Given the description of an element on the screen output the (x, y) to click on. 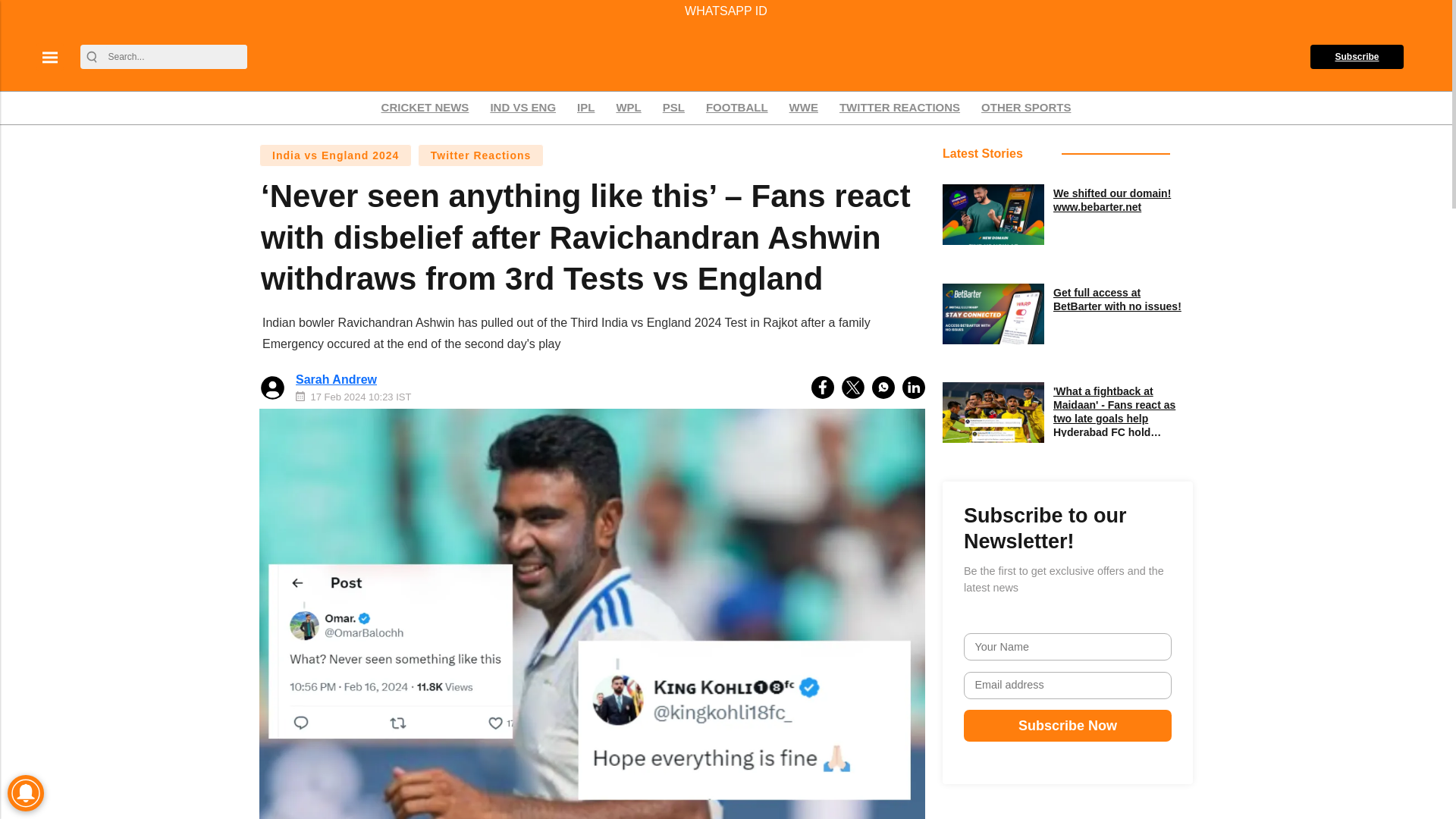
Subscribe (1356, 56)
WWE (804, 107)
WPL (628, 107)
PSL (674, 107)
FOOTBALL (736, 107)
Sarah Andrew (336, 379)
Twitter Reactions (480, 155)
CRICKET NEWS (424, 107)
India vs England 2024 (335, 155)
IND VS ENG (522, 107)
TWITTER REACTIONS (899, 107)
OTHER SPORTS (1025, 107)
